Given the description of an element on the screen output the (x, y) to click on. 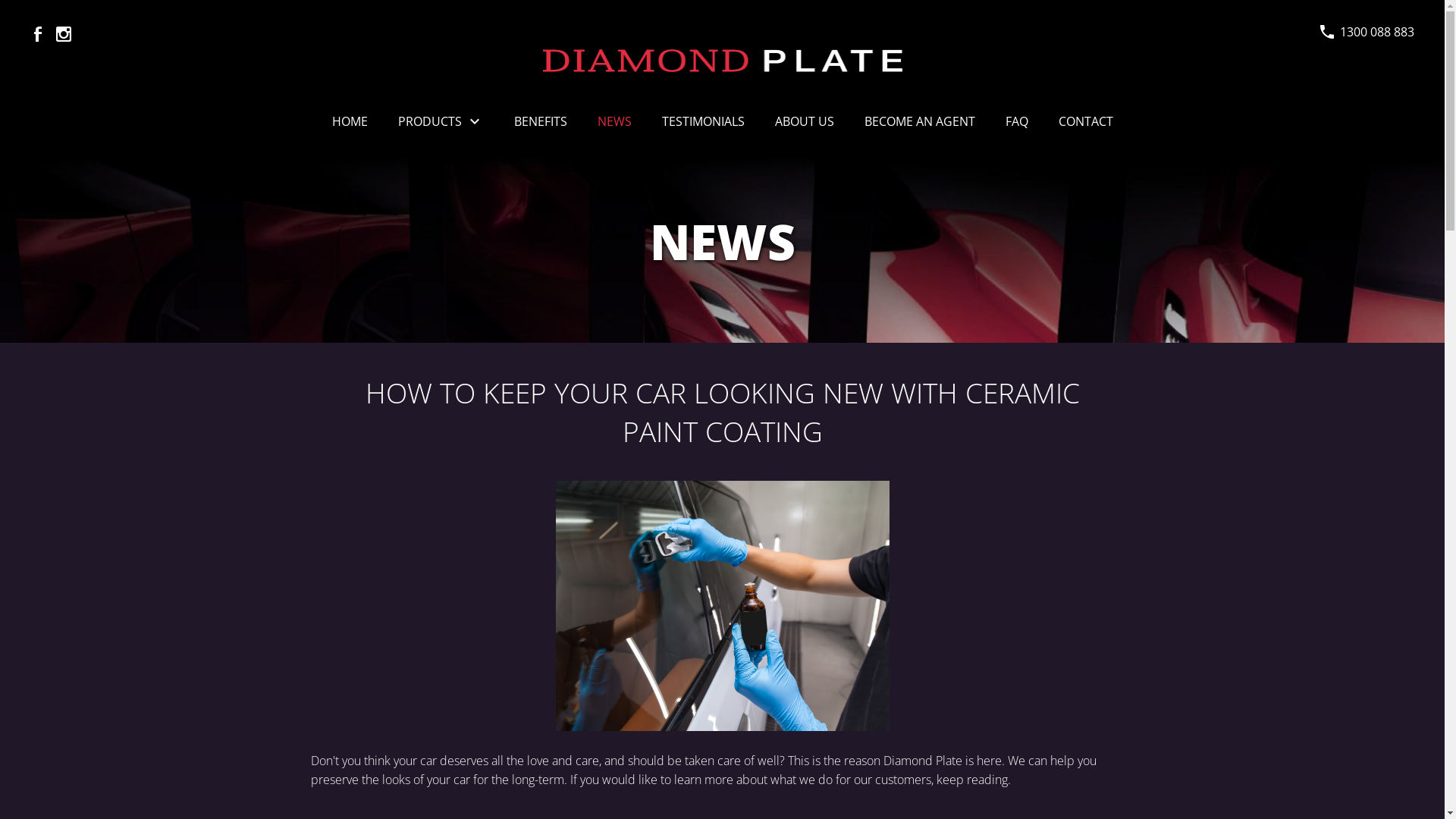
TESTIMONIALS Element type: text (702, 121)
ABOUT US Element type: text (804, 121)
BECOME AN AGENT Element type: text (919, 121)
HOME Element type: text (349, 121)
1300 088 883 Element type: text (1376, 31)
NEWS Element type: text (614, 121)
BENEFITS Element type: text (540, 121)
CONTACT Element type: text (1085, 121)
FAQ Element type: text (1016, 121)
HOW TO KEEP YOUR CAR LOOKING NEW WITH CERAMIC PAINT COATING Element type: hover (721, 605)
